Given the description of an element on the screen output the (x, y) to click on. 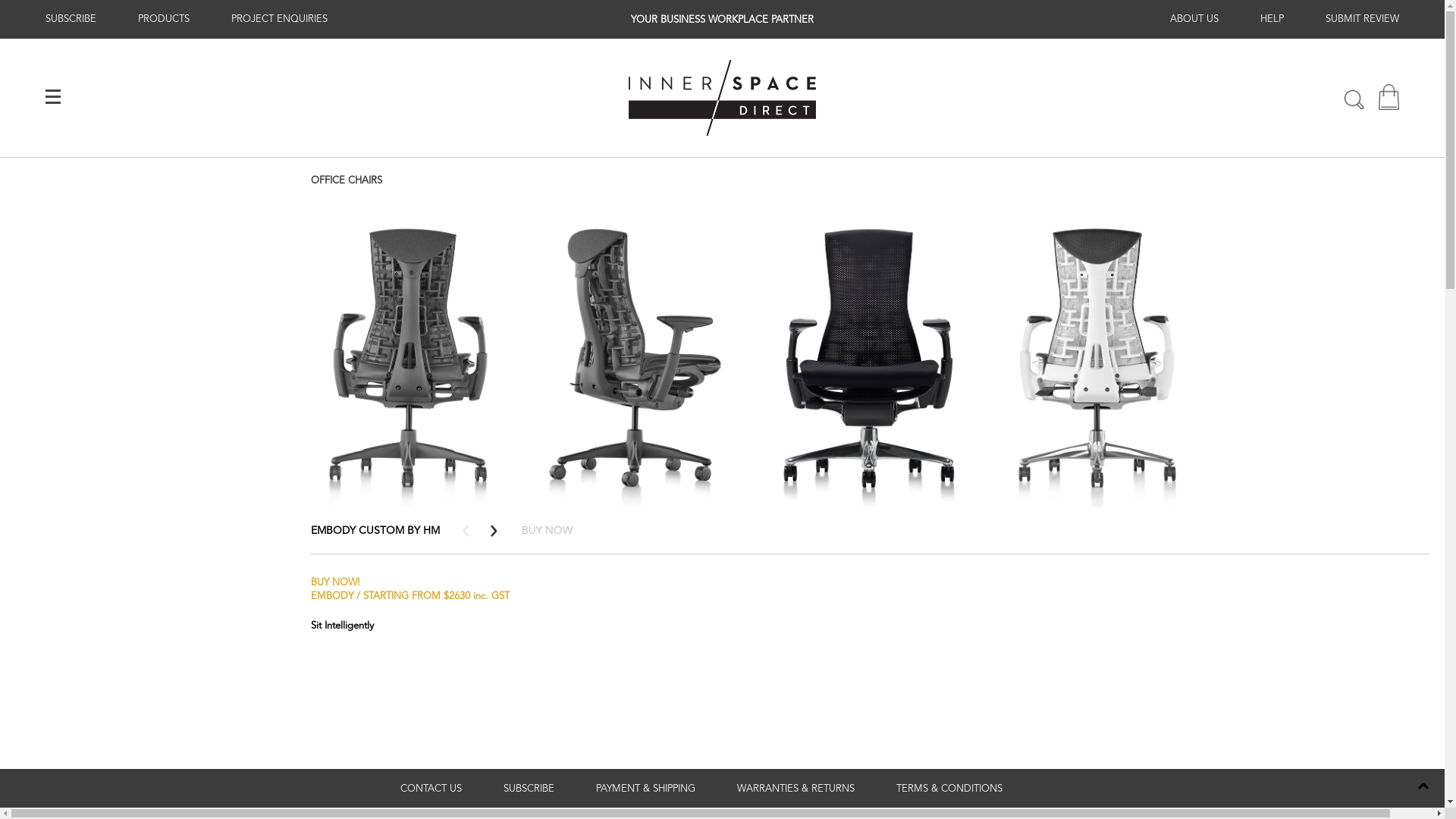
OFFICE CHAIRS Element type: text (346, 180)
SUBSCRIBE Element type: text (70, 18)
BUY NOW Element type: text (546, 530)
PRODUCTS Element type: text (163, 18)
TERMS & CONDITIONS Element type: text (949, 788)
HELP Element type: text (1271, 18)
PAYMENT & SHIPPING Element type: text (645, 788)
SUBMIT REVIEW Element type: text (1362, 18)
ABOUT US Element type: text (1194, 18)
PROJECT ENQUIRIES Element type: text (279, 18)
CONTACT US Element type: text (430, 788)
SUBSCRIBE Element type: text (528, 788)
WARRANTIES & RETURNS Element type: text (795, 788)
